Given the description of an element on the screen output the (x, y) to click on. 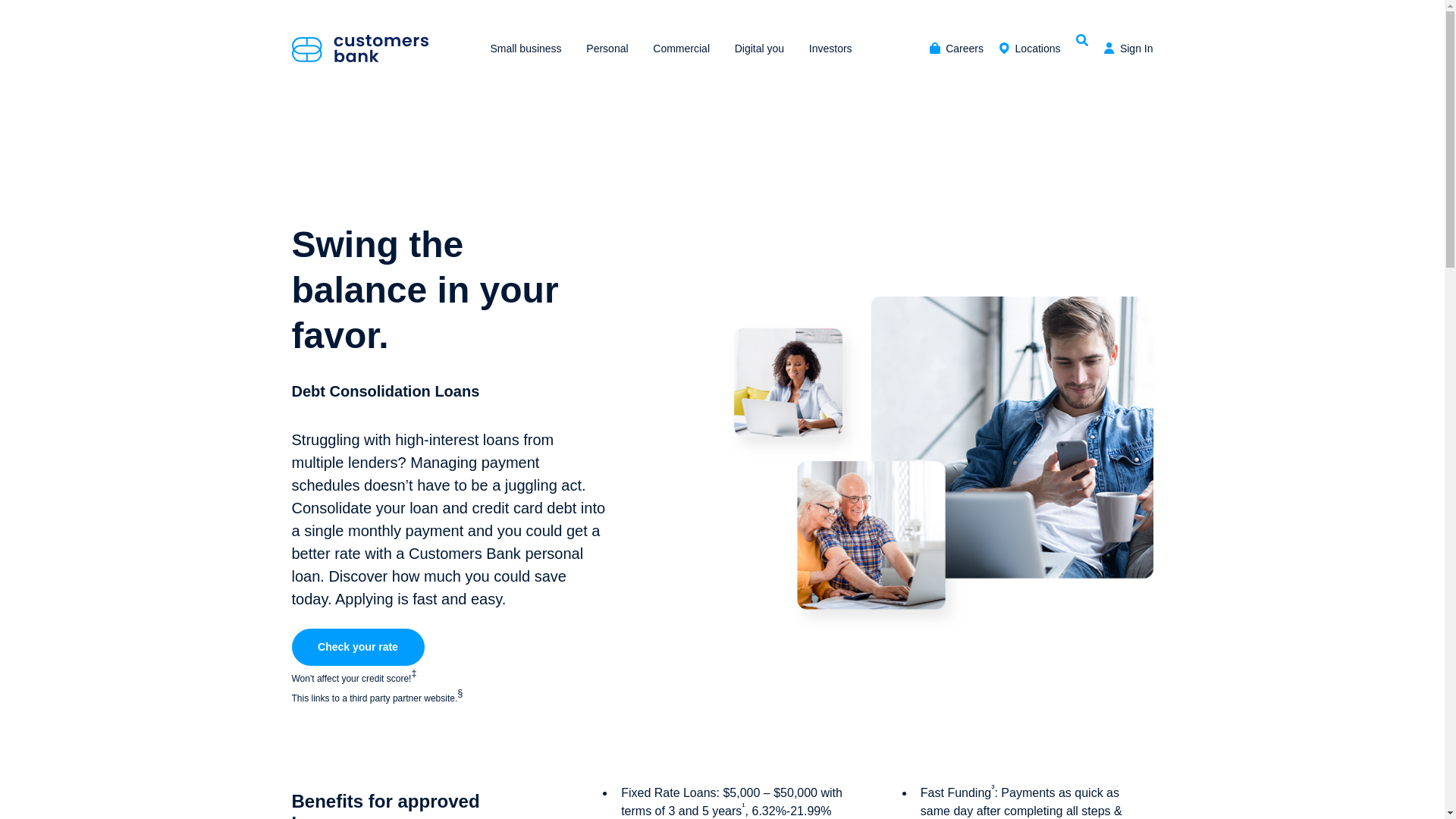
Small business (525, 48)
Digital you (758, 48)
Commercial (681, 48)
Personal (606, 48)
Home (359, 48)
